Given the description of an element on the screen output the (x, y) to click on. 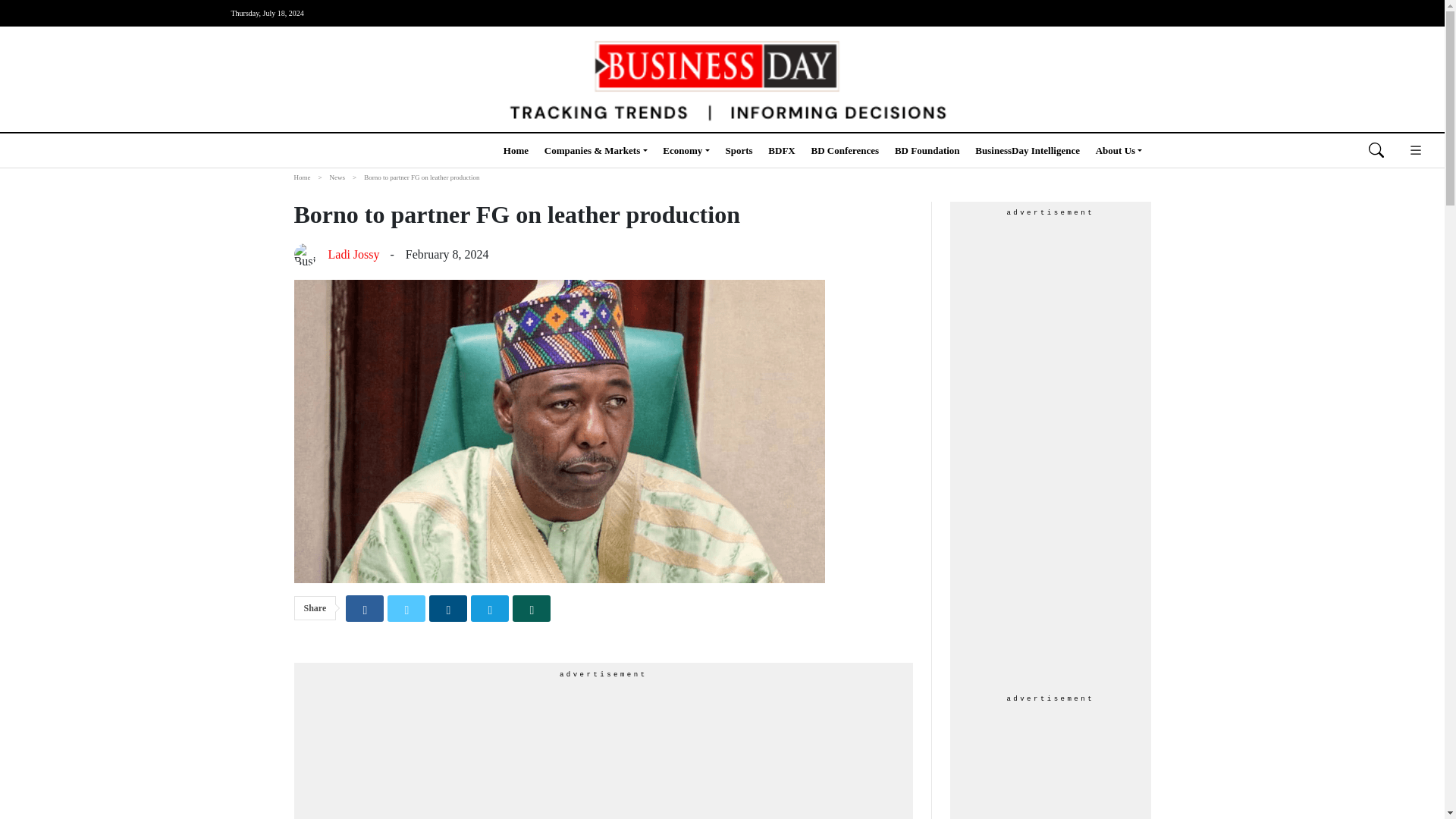
BD Conferences (844, 149)
About Us (1119, 149)
BD Foundation (927, 149)
BD Foundation (927, 149)
BusinessDay Intelligence (1027, 149)
Economy (685, 149)
BD Conferences (844, 149)
BusinessDay Intelligence (1027, 149)
About Us (1119, 149)
Economy (685, 149)
